Given the description of an element on the screen output the (x, y) to click on. 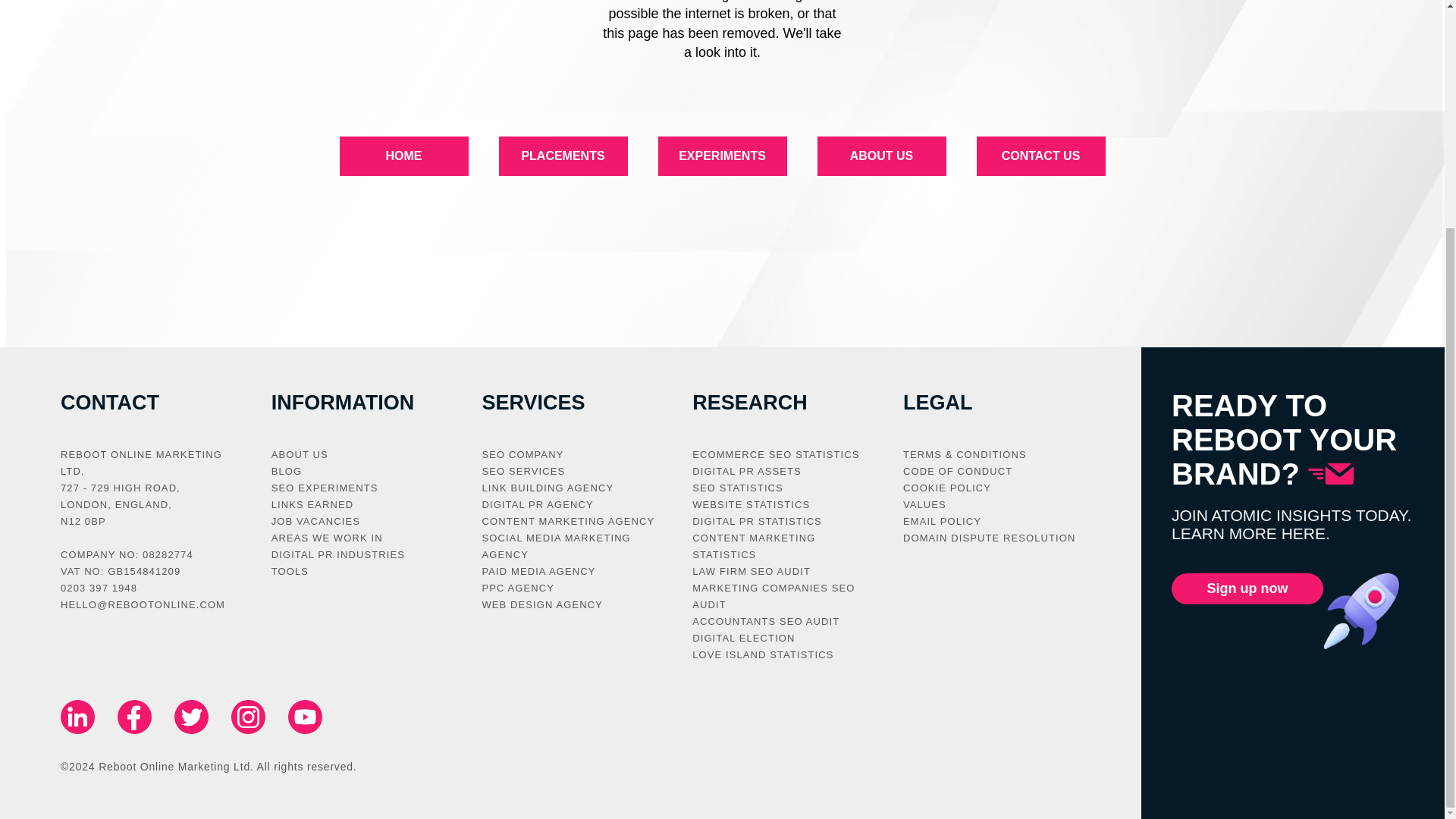
Contact Us (1040, 156)
About Us (881, 156)
Experiments (722, 156)
Home (403, 156)
Placements (563, 156)
